Given the description of an element on the screen output the (x, y) to click on. 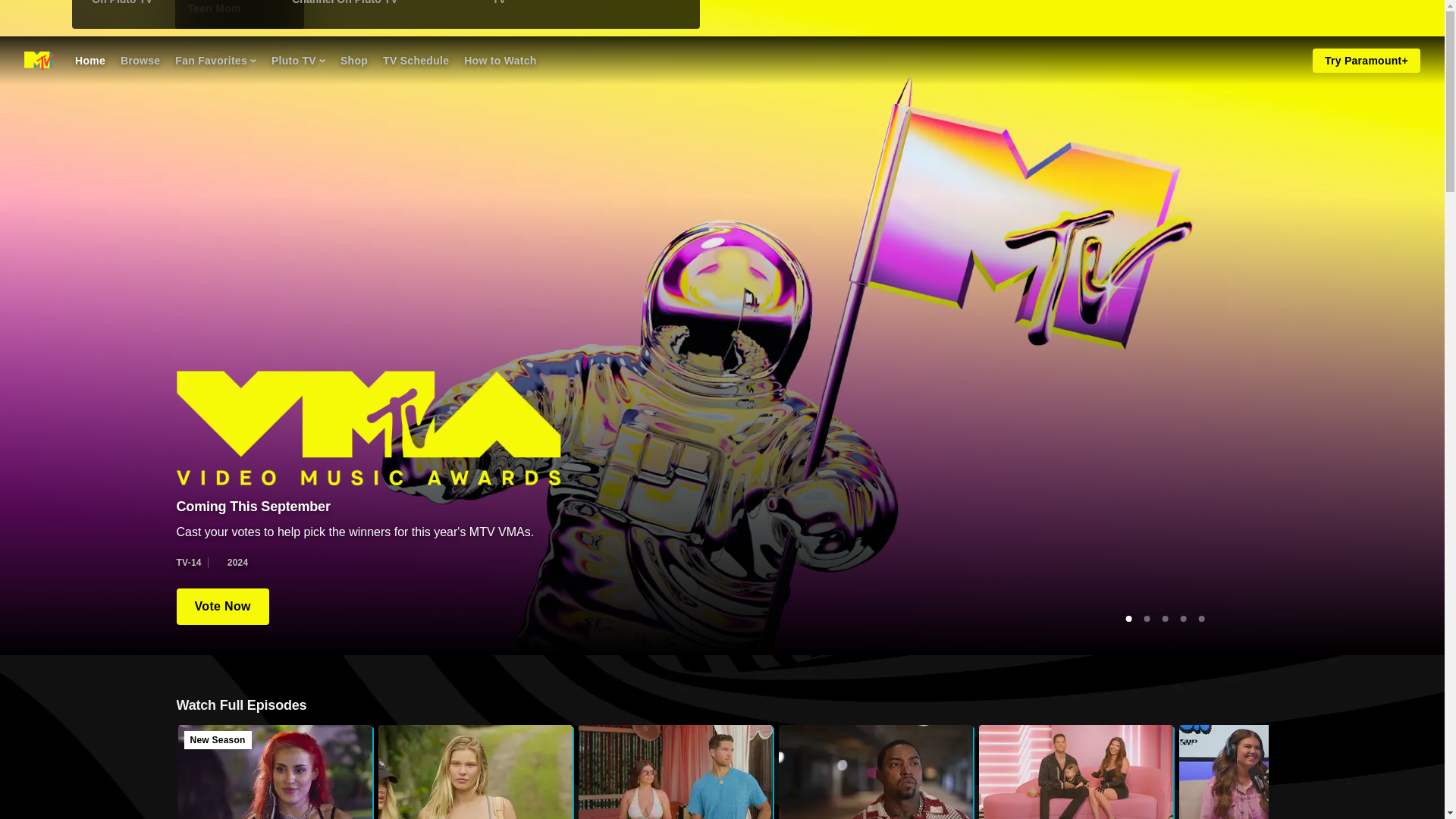
Watch MTV's The Challenge Channel On Pluto TV (382, 6)
Pluto TV (297, 60)
Chevron-icon (253, 60)
Watch MTV's Teen Mom On Pluto TV (582, 6)
Fan Favorites (674, 771)
Teen Mom (215, 60)
TV Schedule (213, 7)
Vote Now (415, 60)
